Given the description of an element on the screen output the (x, y) to click on. 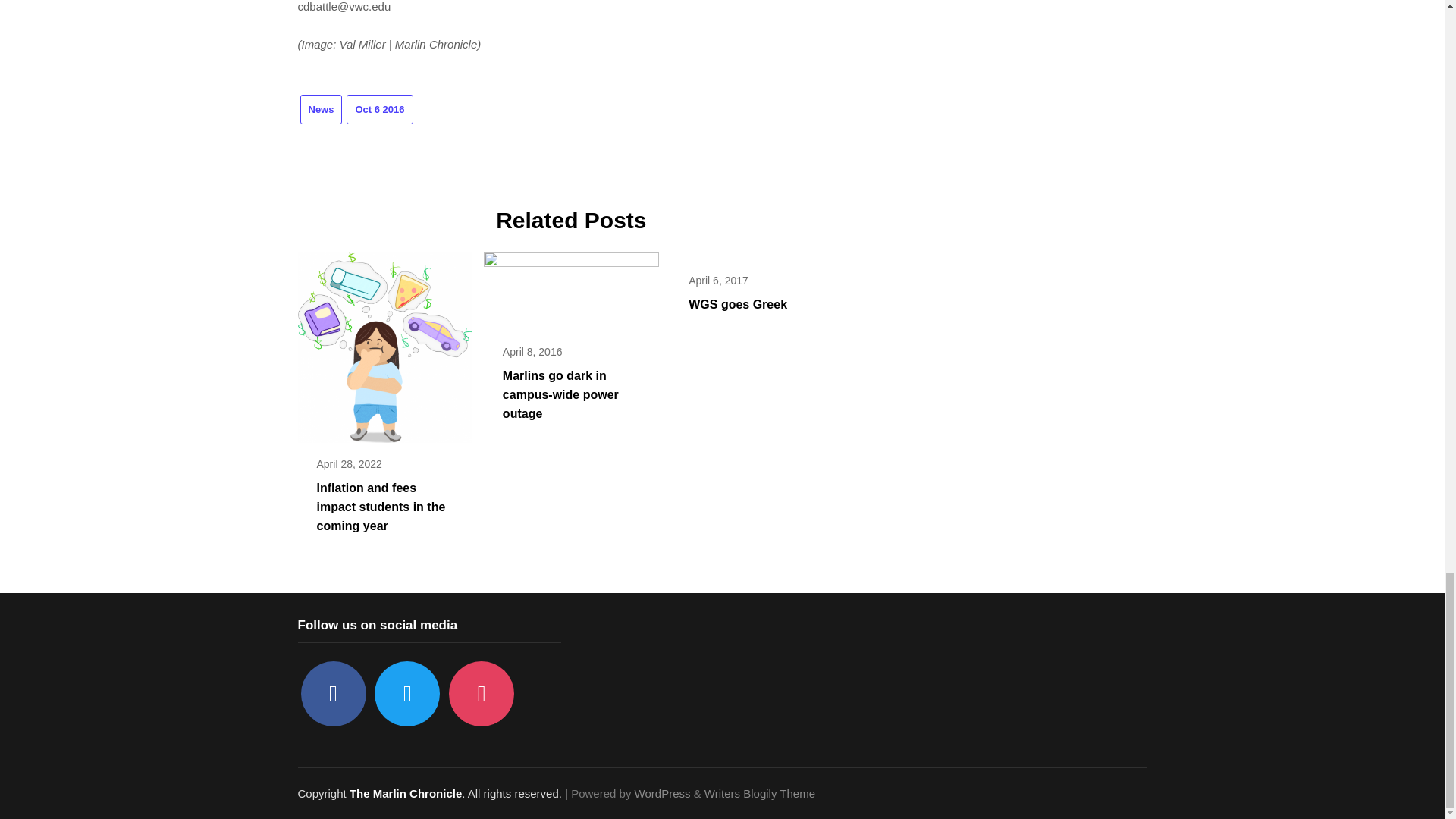
Facebook (332, 693)
Instagram (480, 693)
Marlins go dark in campus-wide power outage (571, 286)
Twitter (406, 693)
Inflation and fees impact students in the coming year (384, 341)
Marlins go dark in campus-wide power outage (560, 394)
Oct 6 2016 (379, 108)
News (320, 108)
WGS goes Greek (737, 304)
Inflation and fees impact students in the coming year (381, 506)
